Given the description of an element on the screen output the (x, y) to click on. 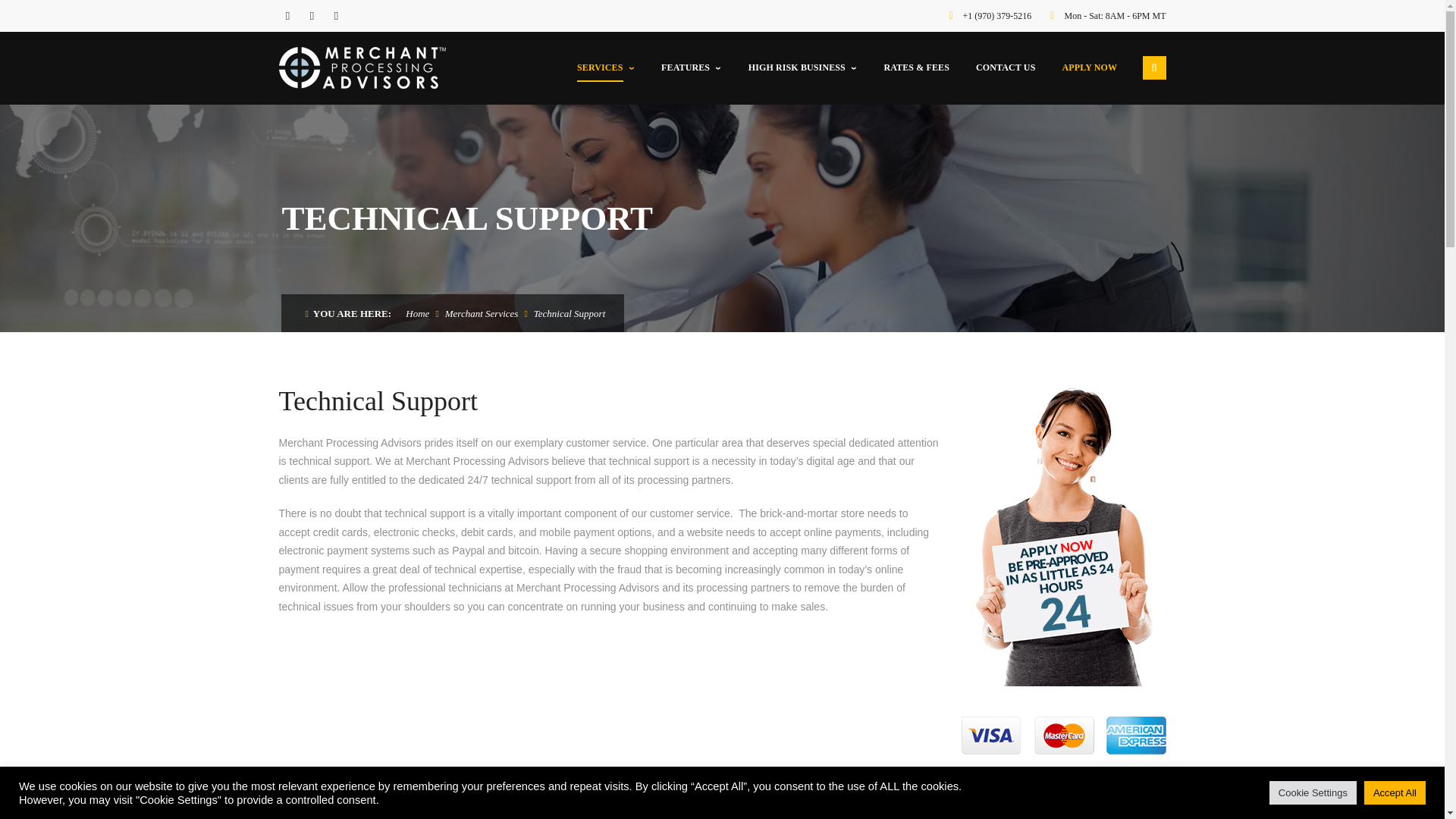
Merchant Processing Advisors -  (376, 67)
HIGH RISK BUSINESS (802, 67)
Merchant Services (481, 313)
